Given the description of an element on the screen output the (x, y) to click on. 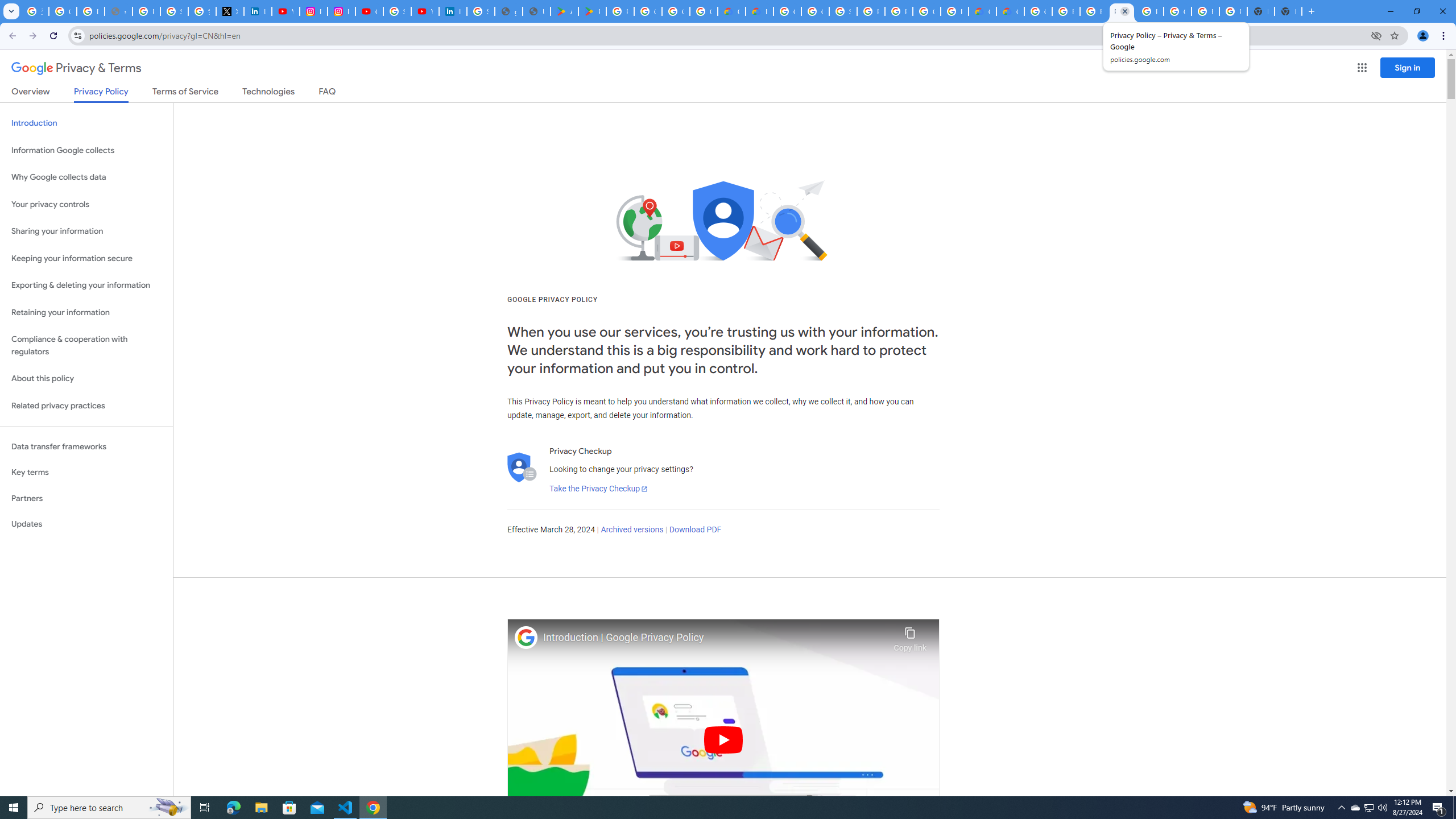
Archived versions (631, 529)
PAW Patrol Rescue World - Apps on Google Play (592, 11)
